Given the description of an element on the screen output the (x, y) to click on. 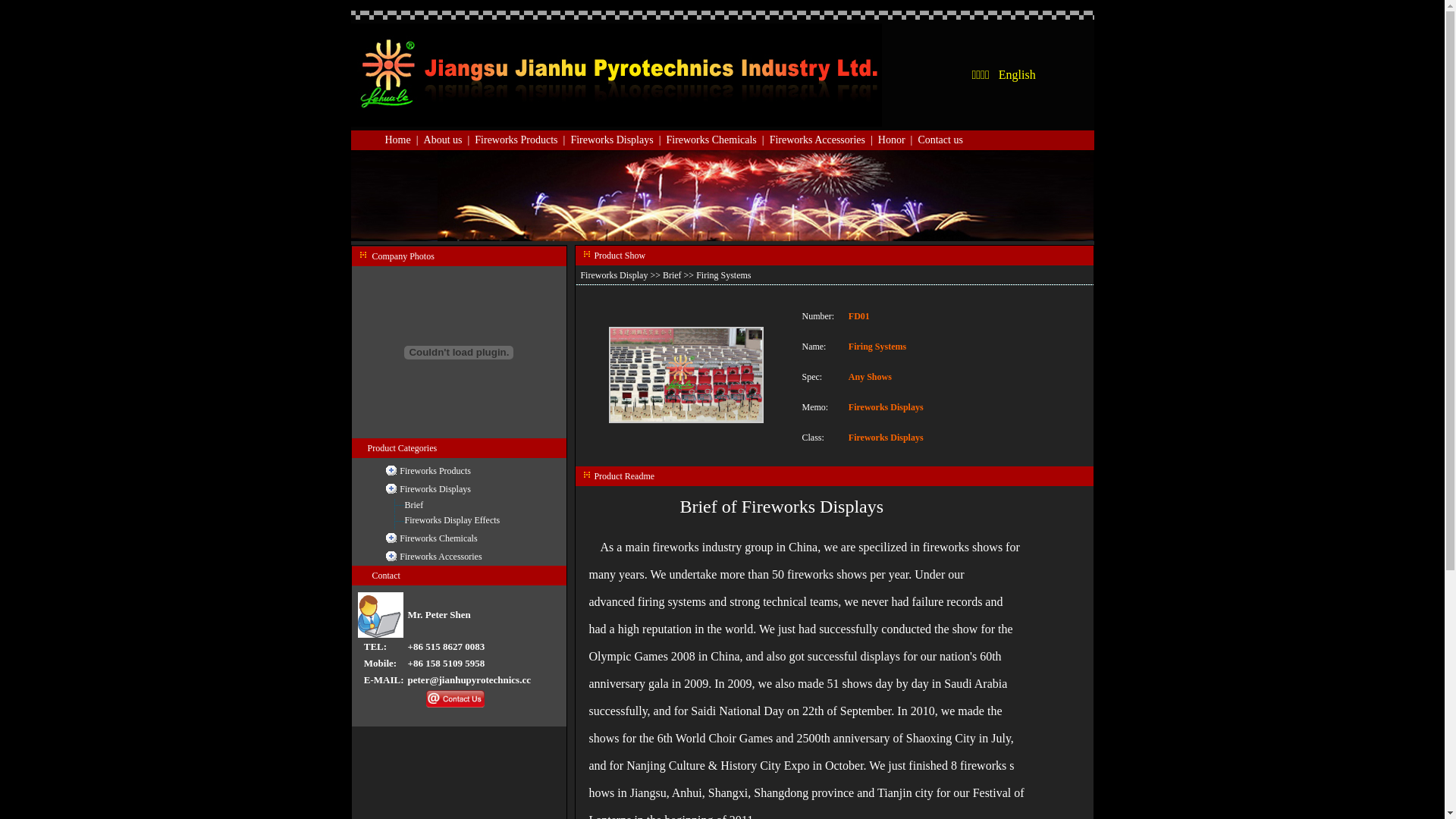
Home  |   Element type: text (404, 139)
Jiangsu Jianhu Pyrotechnics Industry Ltd.  Element type: hover (615, 74)
Fireworks Displays Element type: text (434, 488)
Honor  |   Element type: text (898, 139)
English Element type: text (1016, 74)
Fireworks Products  |   Element type: text (522, 139)
About us  |   Element type: text (449, 139)
Fireworks Chemicals Element type: text (437, 537)
Fireworks Products Element type: text (434, 470)
Fireworks Accessories  |   Element type: text (823, 139)
Fireworks Display Element type: text (613, 274)
Contact us Element type: text (940, 139)
Fireworks Displays  |   Element type: text (617, 139)
Brief Element type: text (671, 274)
Brief Element type: text (413, 504)
Fireworks Display Effects Element type: text (452, 519)
Fireworks Accessories Element type: text (440, 555)
Fireworks Chemicals  |   Element type: text (716, 139)
